Given the description of an element on the screen output the (x, y) to click on. 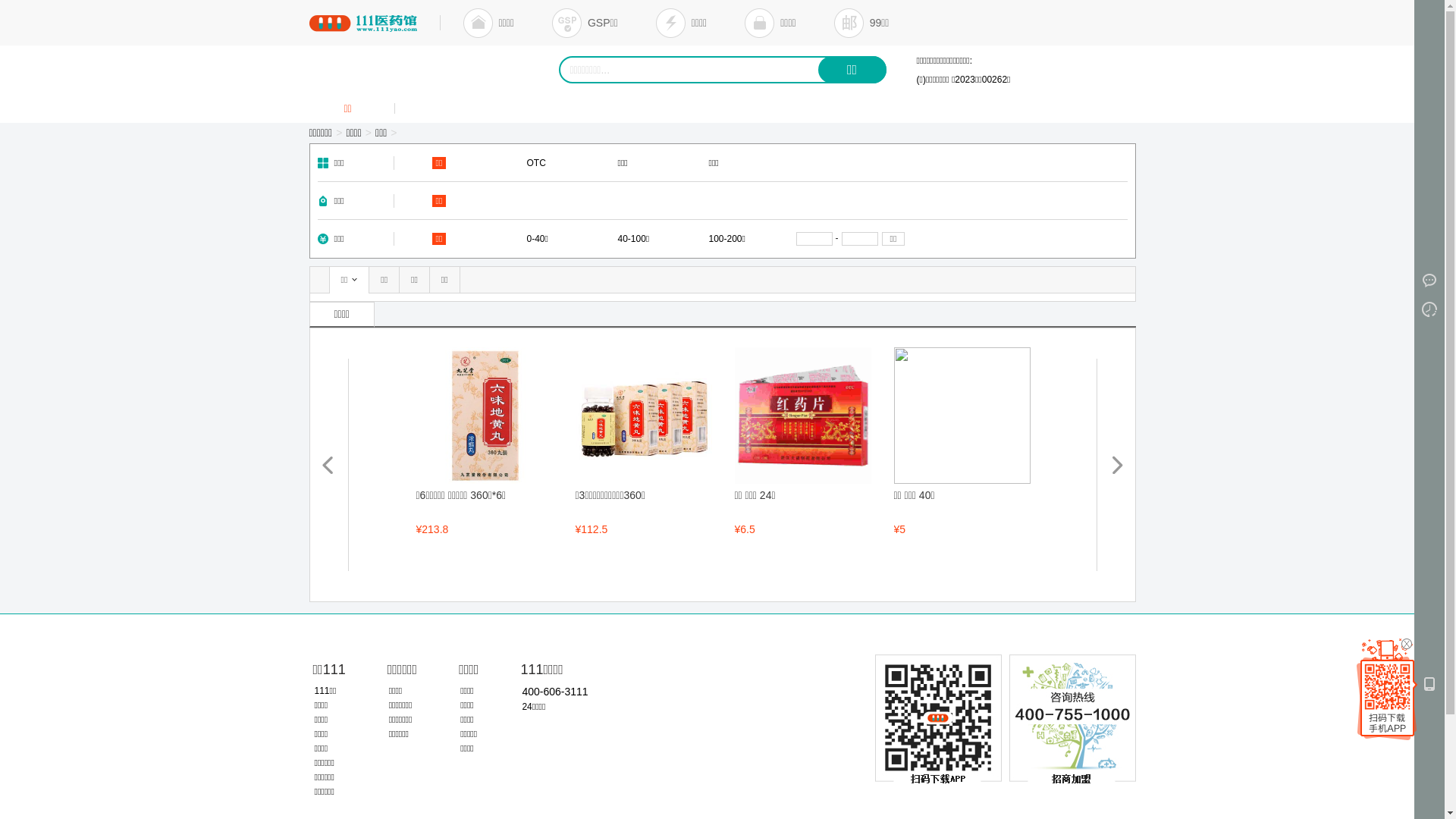
OTC Element type: text (536, 162)
400-606-3111 Element type: text (554, 691)
